Given the description of an element on the screen output the (x, y) to click on. 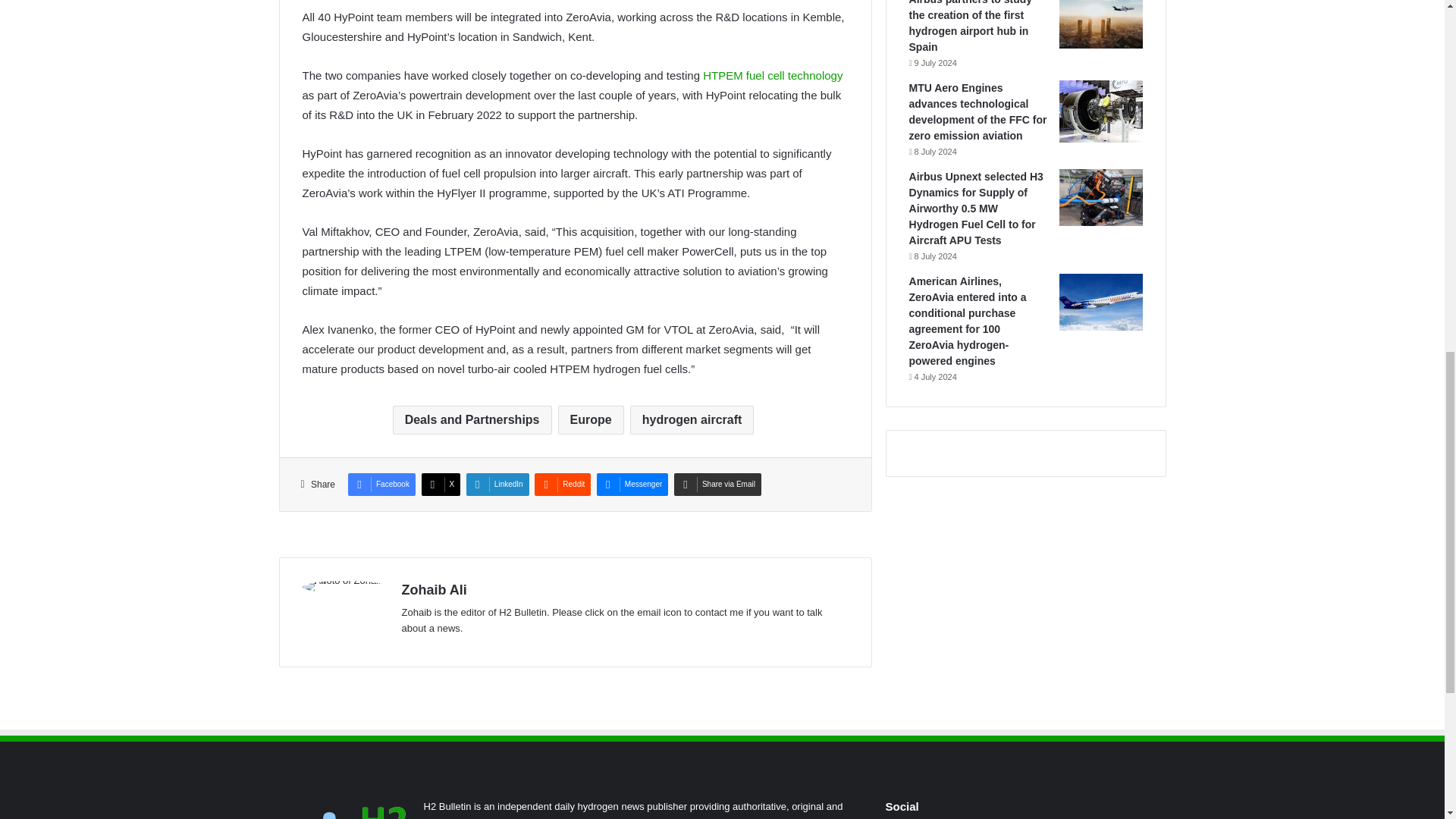
Reddit (562, 484)
HTPEM fuel cell technology (773, 74)
Facebook (380, 484)
hydrogen aircraft (692, 419)
Share via Email (717, 484)
Messenger (632, 484)
Zohaib Ali (434, 589)
LinkedIn (497, 484)
LinkedIn (497, 484)
X (441, 484)
Share via Email (717, 484)
Messenger (632, 484)
Deals and Partnerships (472, 419)
Reddit (562, 484)
Europe (590, 419)
